Given the description of an element on the screen output the (x, y) to click on. 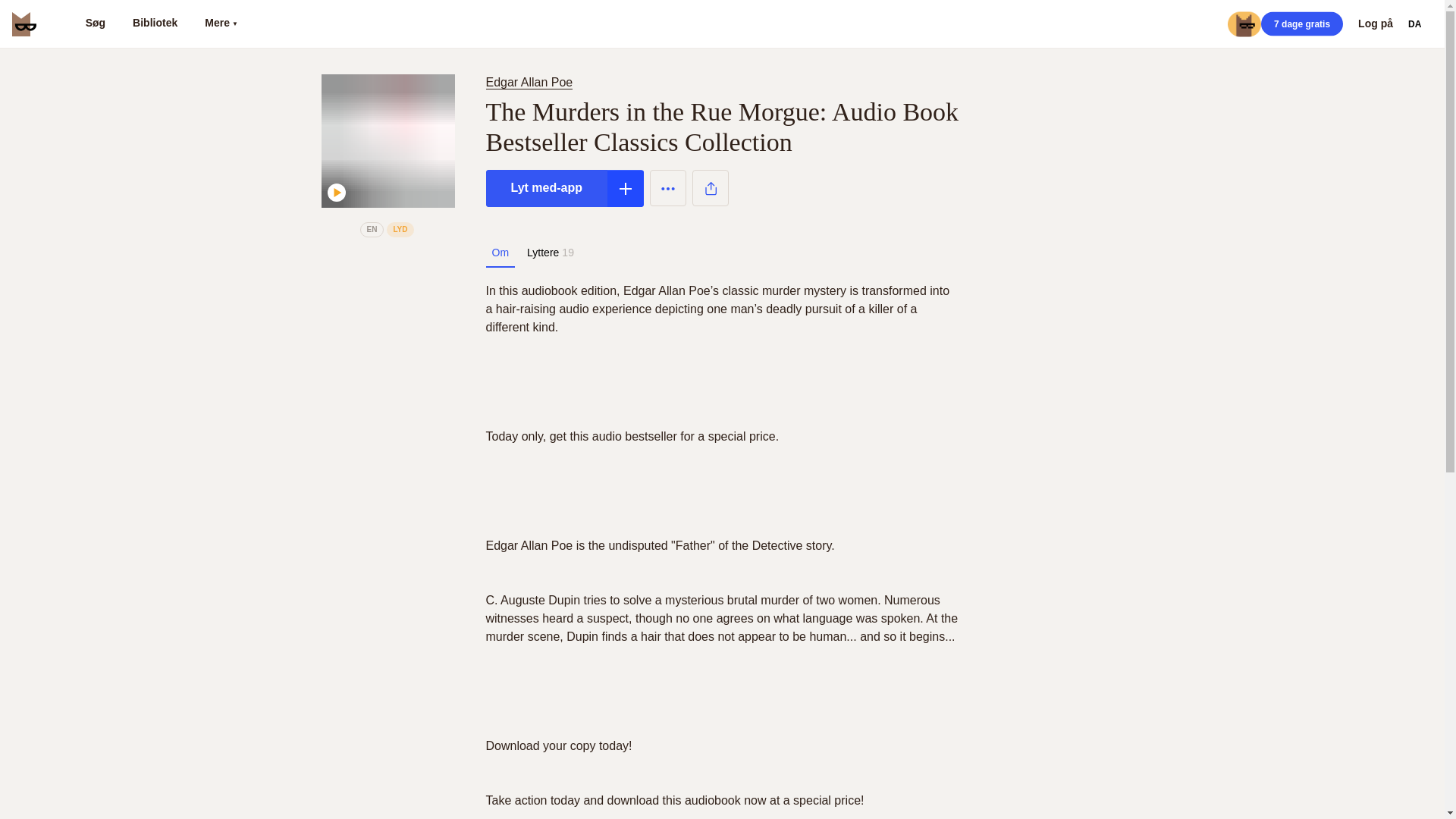
Edgar Allan Poe (528, 82)
Edgar Allan Poe (531, 82)
Om (499, 252)
7 dage gratis (1301, 23)
Bibliotek (155, 24)
